Given the description of an element on the screen output the (x, y) to click on. 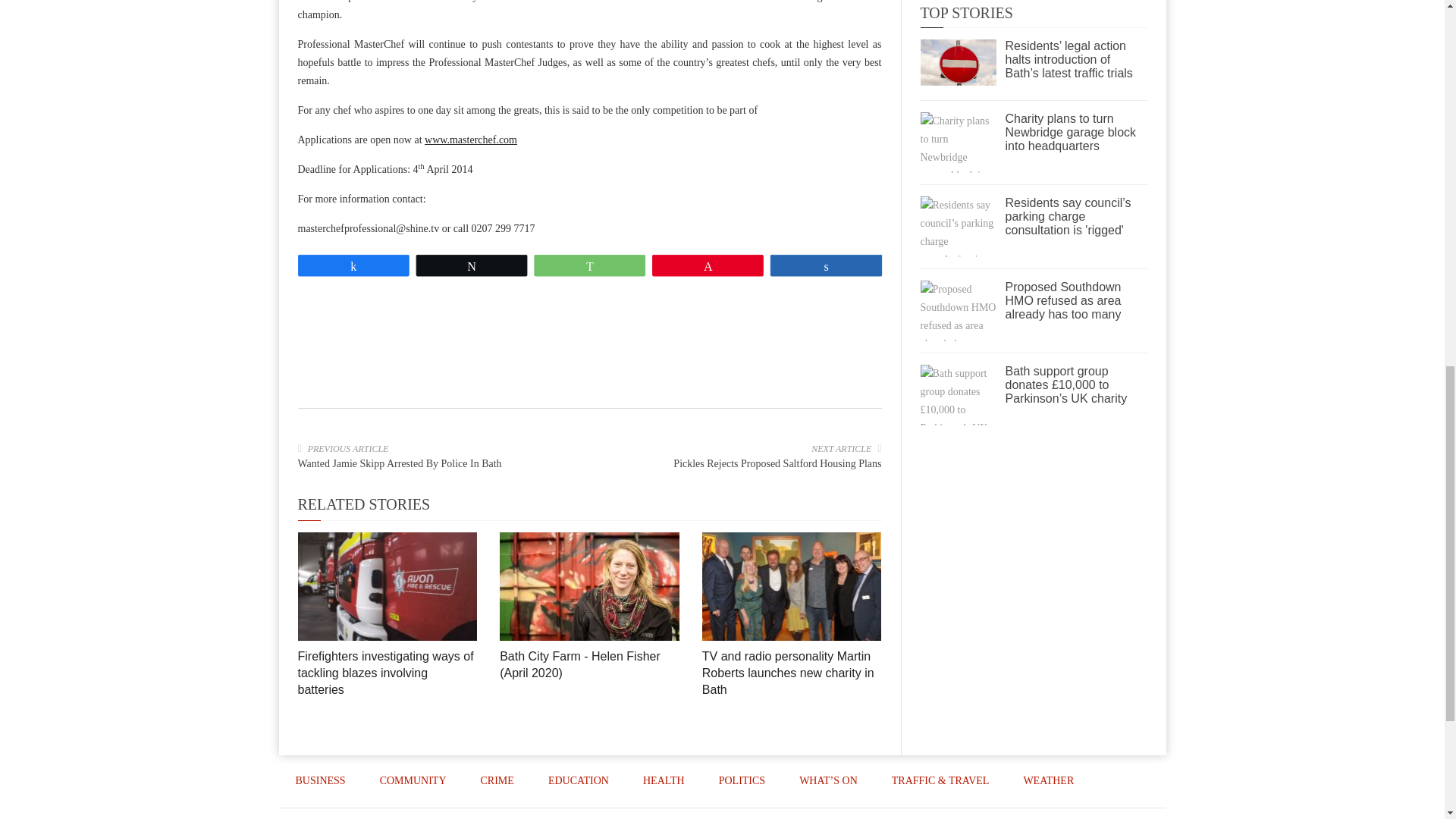
BACK TO TOP (1113, 812)
Wanted Jamie Skipp Arrested By Police In Bath (398, 463)
Pickles Rejects Proposed Saltford Housing Plans (776, 463)
